Given the description of an element on the screen output the (x, y) to click on. 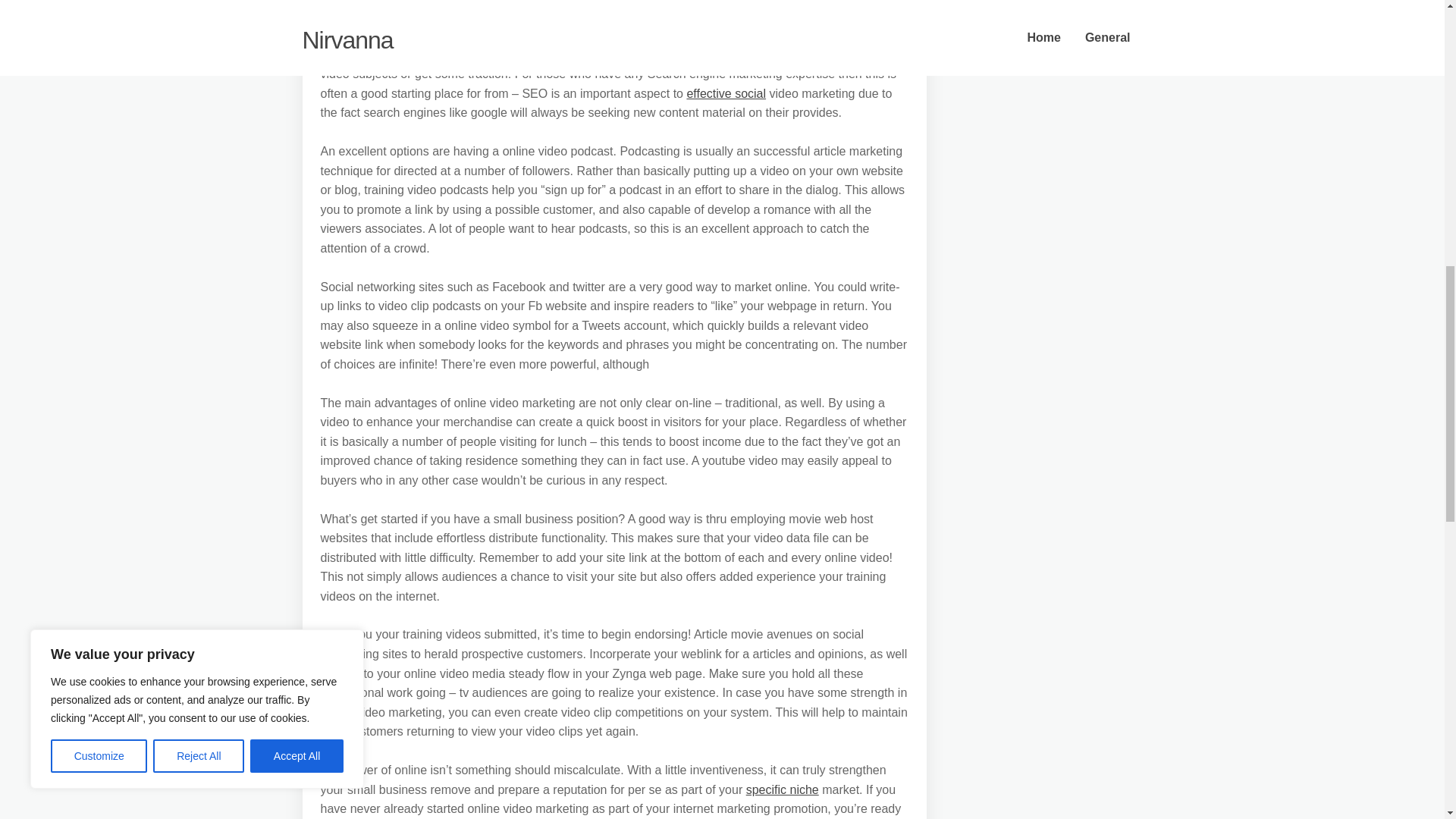
effective social (725, 92)
specific niche (781, 789)
